Given the description of an element on the screen output the (x, y) to click on. 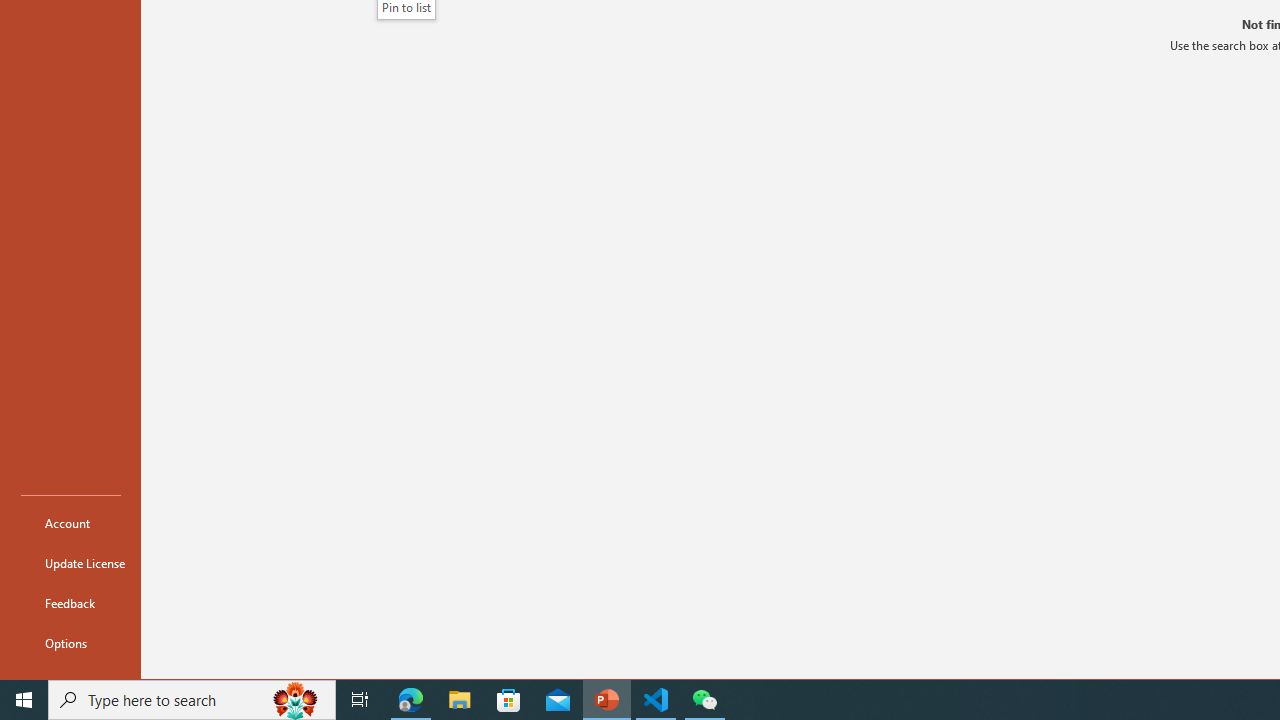
Microsoft Edge - 1 running window (411, 699)
WeChat - 1 running window (704, 699)
Options (70, 642)
Update License (70, 562)
Feedback (70, 602)
Account (70, 522)
